Given the description of an element on the screen output the (x, y) to click on. 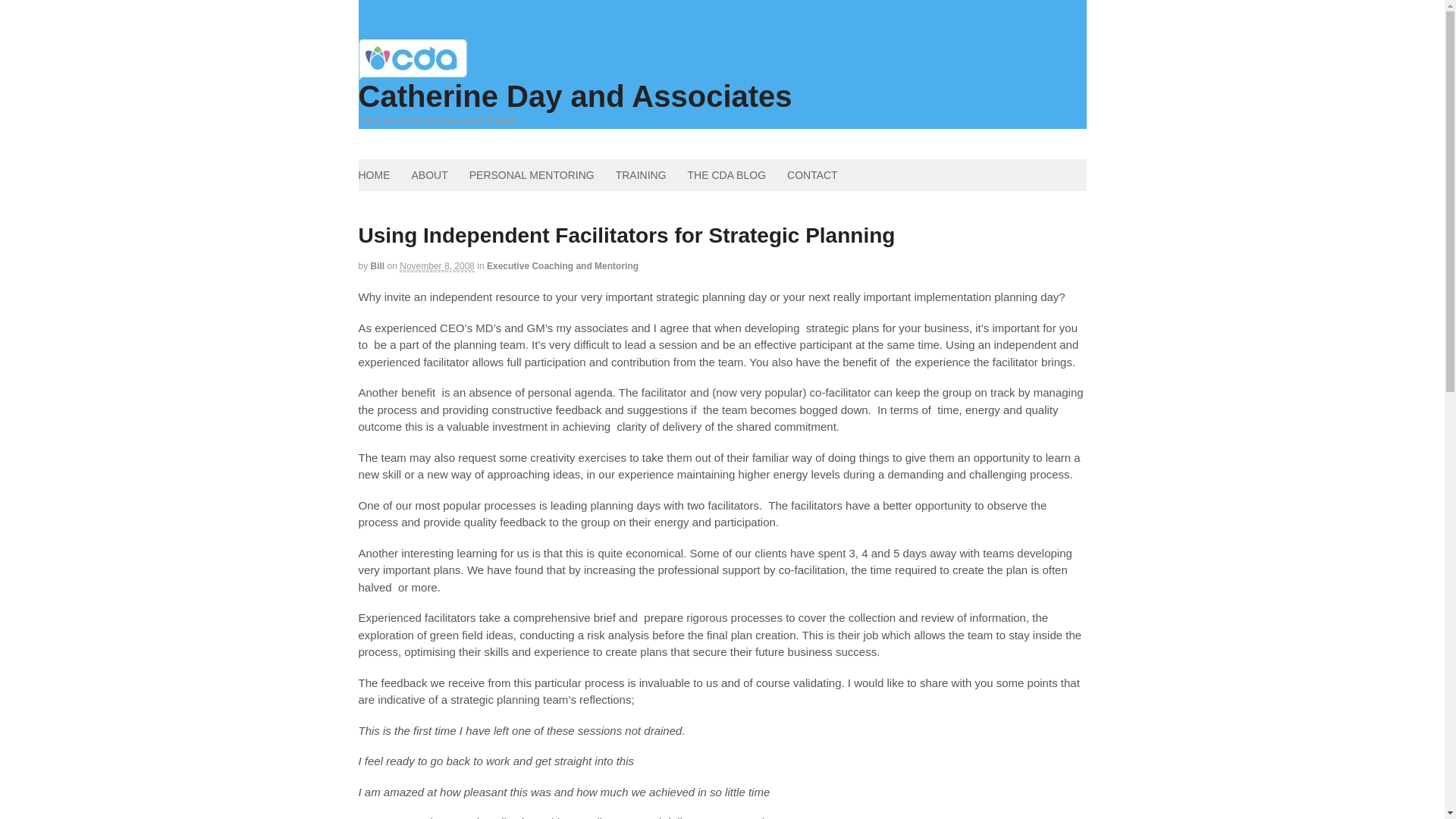
Bill (378, 266)
Posts by Bill (378, 266)
ABOUT (429, 174)
THE CDA BLOG (726, 174)
PERSONAL MENTORING (531, 174)
rapid business and personal change (413, 72)
View all items in Executive Coaching and Mentoring (562, 266)
CONTACT (812, 174)
Catherine Day and Associates (575, 96)
TRAINING (641, 174)
